Given the description of an element on the screen output the (x, y) to click on. 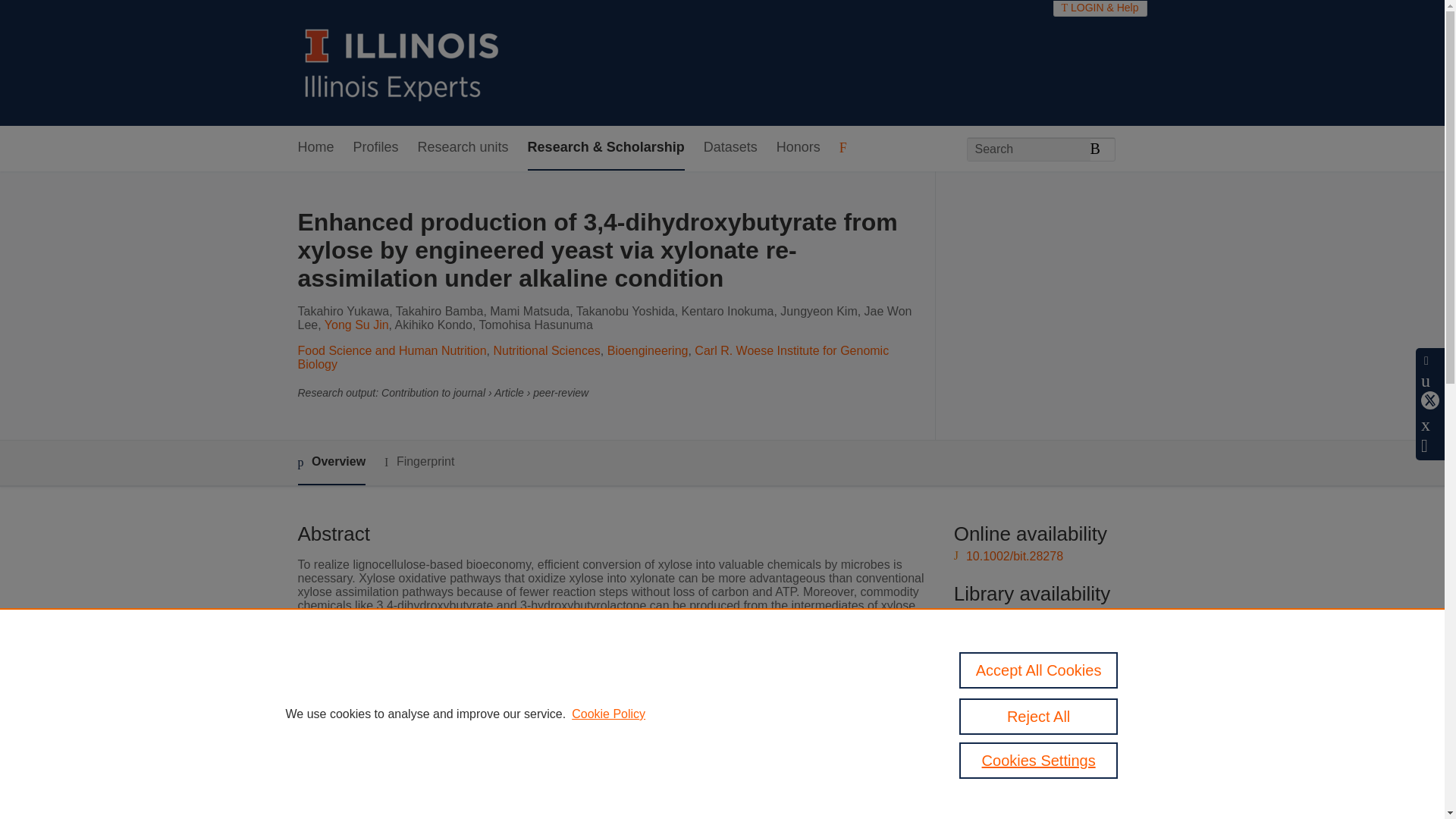
Nutritional Sciences (546, 350)
Discover UIUC Full Text (1037, 615)
Link to the citations in Scopus (1048, 693)
Link to publication in Scopus (1045, 667)
Carl R. Woese Institute for Genomic Biology (592, 357)
Bioengineering (647, 350)
Profiles (375, 148)
Food Science and Human Nutrition (391, 350)
Overview (331, 462)
